Given the description of an element on the screen output the (x, y) to click on. 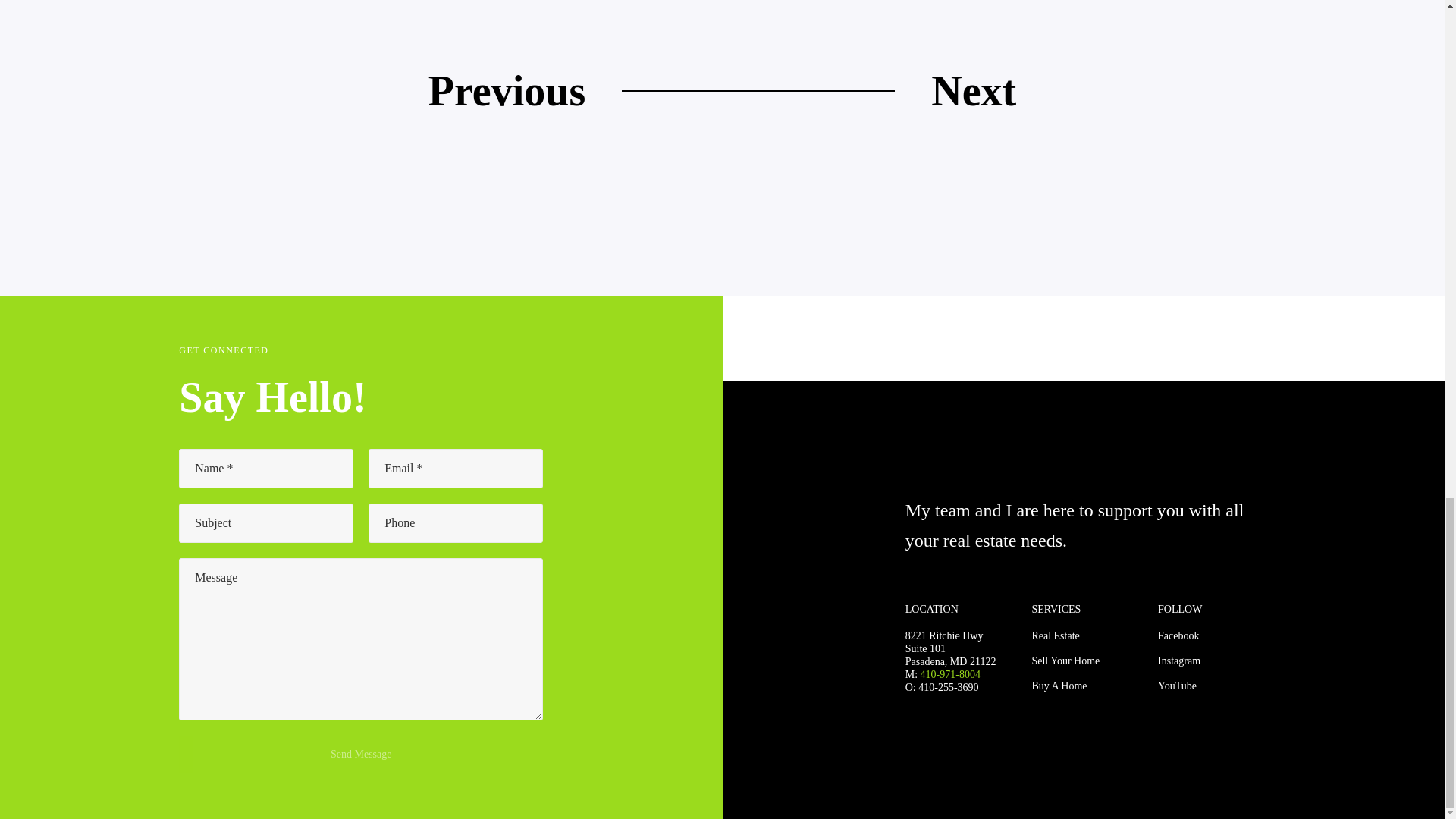
Buy A Home (1058, 685)
Send Message (361, 754)
Instagram (1178, 660)
Send Message (361, 754)
410-971-8004 (949, 674)
Next (973, 90)
Facebook (1177, 635)
Previous (506, 90)
YouTube (1176, 685)
Real Estate (1054, 635)
